Given the description of an element on the screen output the (x, y) to click on. 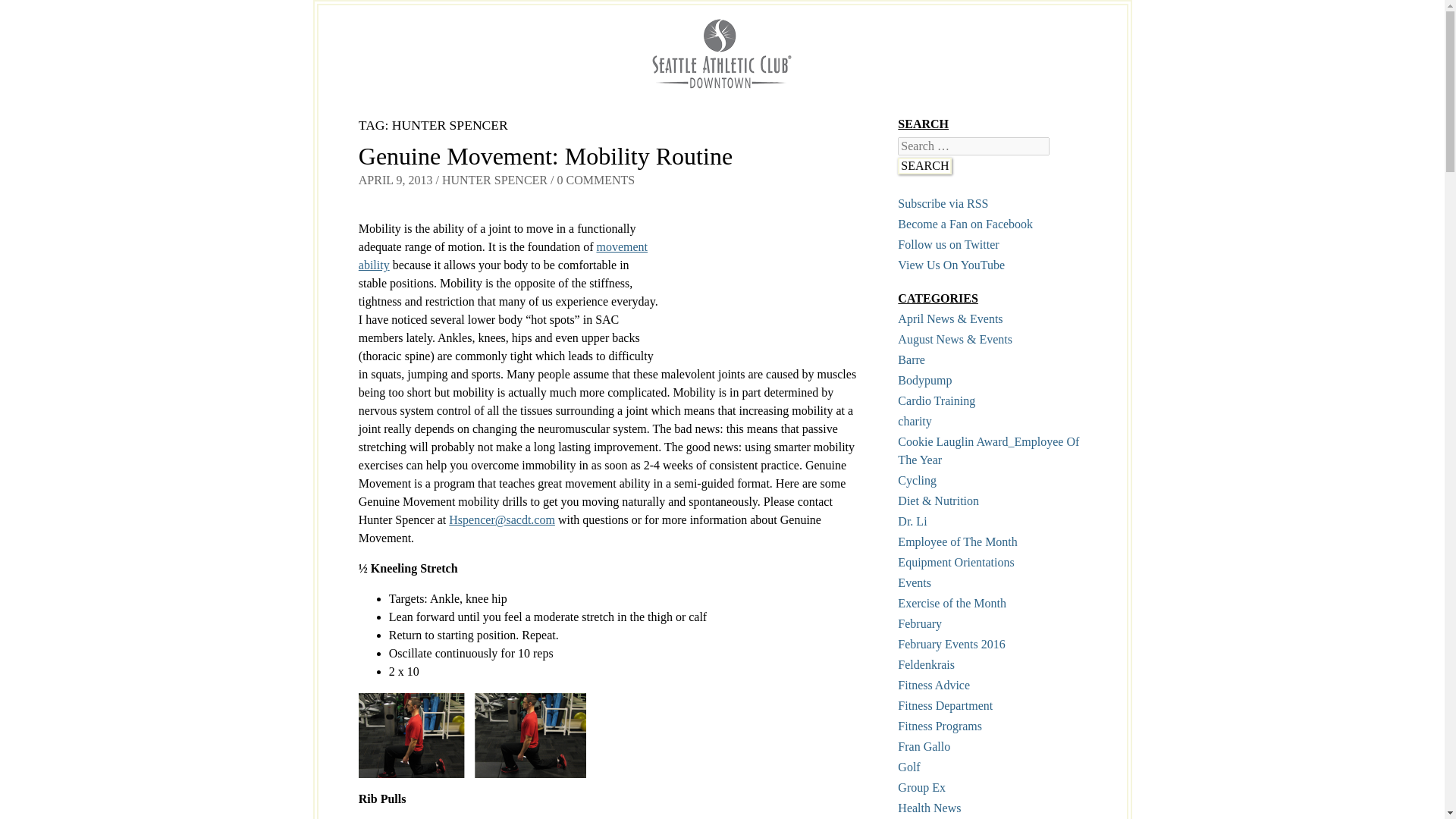
0 COMMENTS (595, 179)
HUNTER SPENCER (494, 179)
movement ability (502, 255)
APRIL 9, 2013 (395, 179)
Posts by Hunter Spencer (494, 179)
7:00 am (395, 179)
Genuine Movement: Mobility Routine (545, 155)
